Given the description of an element on the screen output the (x, y) to click on. 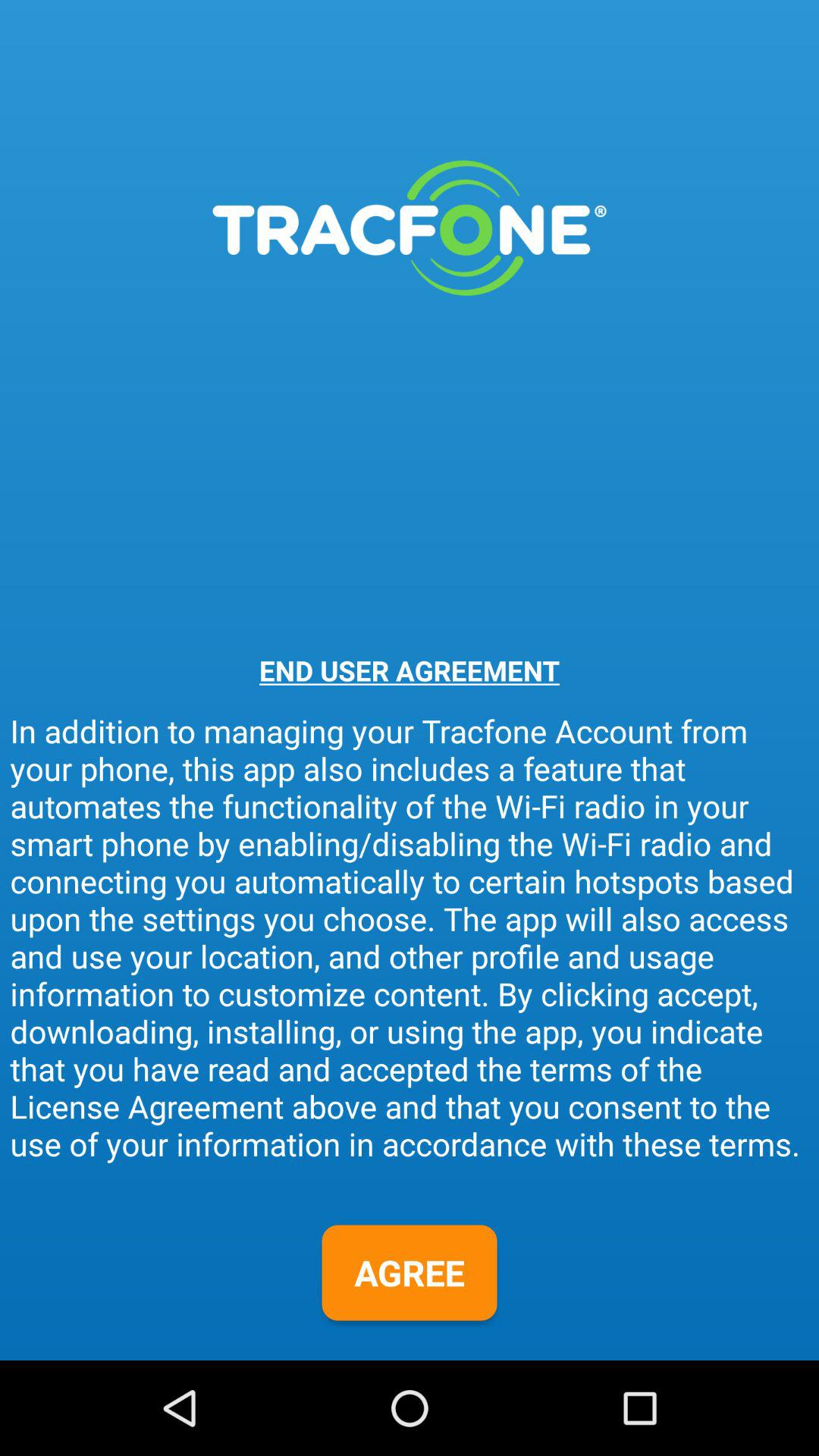
click agree item (409, 1272)
